Given the description of an element on the screen output the (x, y) to click on. 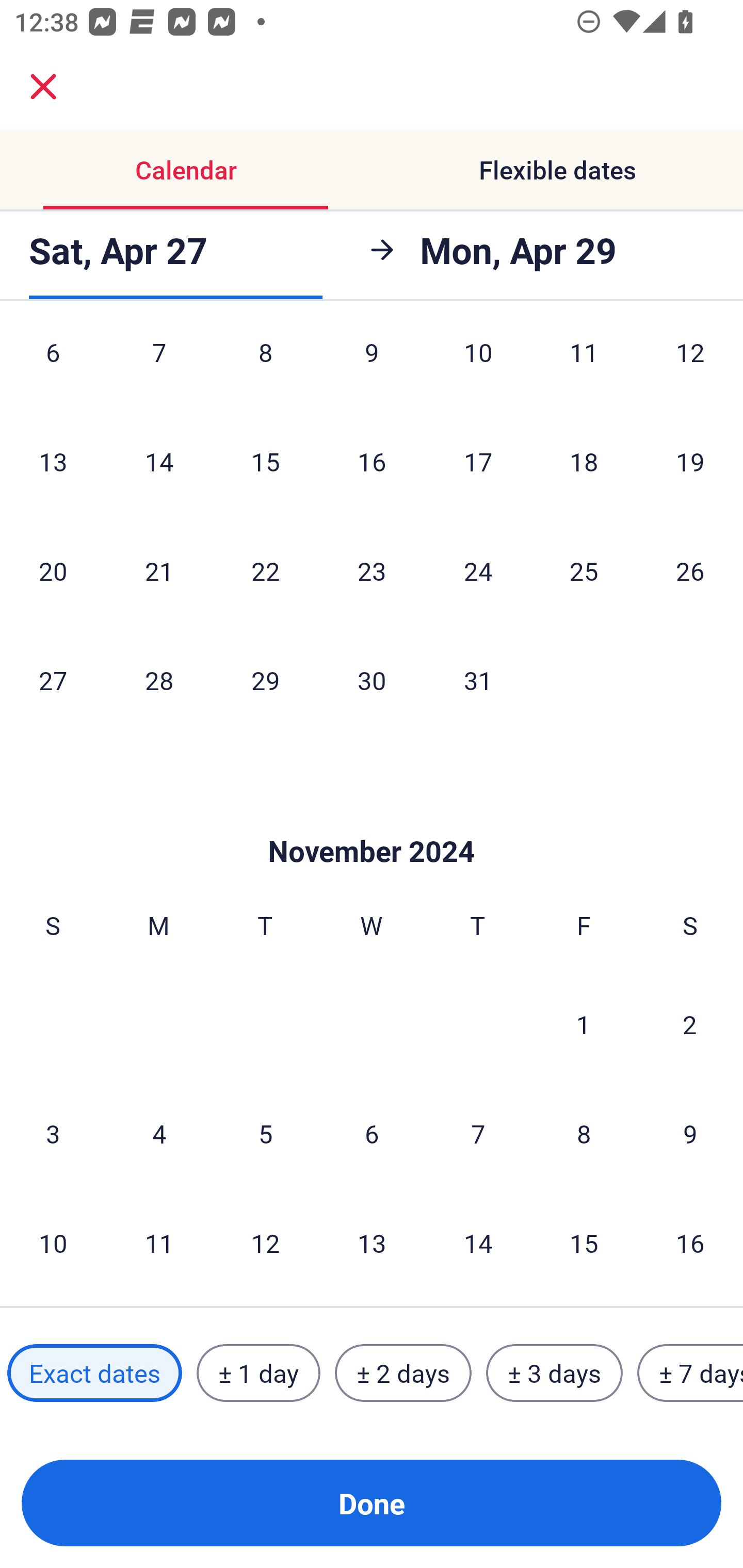
close. (43, 86)
Flexible dates (557, 170)
6 Sunday, October 6, 2024 (53, 367)
7 Monday, October 7, 2024 (159, 367)
8 Tuesday, October 8, 2024 (265, 367)
9 Wednesday, October 9, 2024 (371, 367)
10 Thursday, October 10, 2024 (477, 367)
11 Friday, October 11, 2024 (584, 367)
12 Saturday, October 12, 2024 (690, 367)
13 Sunday, October 13, 2024 (53, 461)
14 Monday, October 14, 2024 (159, 461)
15 Tuesday, October 15, 2024 (265, 461)
16 Wednesday, October 16, 2024 (371, 461)
17 Thursday, October 17, 2024 (477, 461)
18 Friday, October 18, 2024 (584, 461)
19 Saturday, October 19, 2024 (690, 461)
20 Sunday, October 20, 2024 (53, 570)
21 Monday, October 21, 2024 (159, 570)
22 Tuesday, October 22, 2024 (265, 570)
23 Wednesday, October 23, 2024 (371, 570)
24 Thursday, October 24, 2024 (477, 570)
25 Friday, October 25, 2024 (584, 570)
26 Saturday, October 26, 2024 (690, 570)
27 Sunday, October 27, 2024 (53, 679)
28 Monday, October 28, 2024 (159, 679)
29 Tuesday, October 29, 2024 (265, 679)
30 Wednesday, October 30, 2024 (371, 679)
31 Thursday, October 31, 2024 (477, 679)
Skip to Done (371, 820)
1 Friday, November 1, 2024 (583, 1023)
2 Saturday, November 2, 2024 (689, 1023)
3 Sunday, November 3, 2024 (53, 1133)
4 Monday, November 4, 2024 (159, 1133)
5 Tuesday, November 5, 2024 (265, 1133)
6 Wednesday, November 6, 2024 (371, 1133)
7 Thursday, November 7, 2024 (477, 1133)
8 Friday, November 8, 2024 (584, 1133)
9 Saturday, November 9, 2024 (690, 1133)
10 Sunday, November 10, 2024 (53, 1242)
11 Monday, November 11, 2024 (159, 1242)
12 Tuesday, November 12, 2024 (265, 1242)
13 Wednesday, November 13, 2024 (371, 1242)
14 Thursday, November 14, 2024 (477, 1242)
15 Friday, November 15, 2024 (584, 1242)
16 Saturday, November 16, 2024 (690, 1242)
Exact dates (94, 1372)
± 1 day (258, 1372)
± 2 days (403, 1372)
± 3 days (553, 1372)
± 7 days (690, 1372)
